Given the description of an element on the screen output the (x, y) to click on. 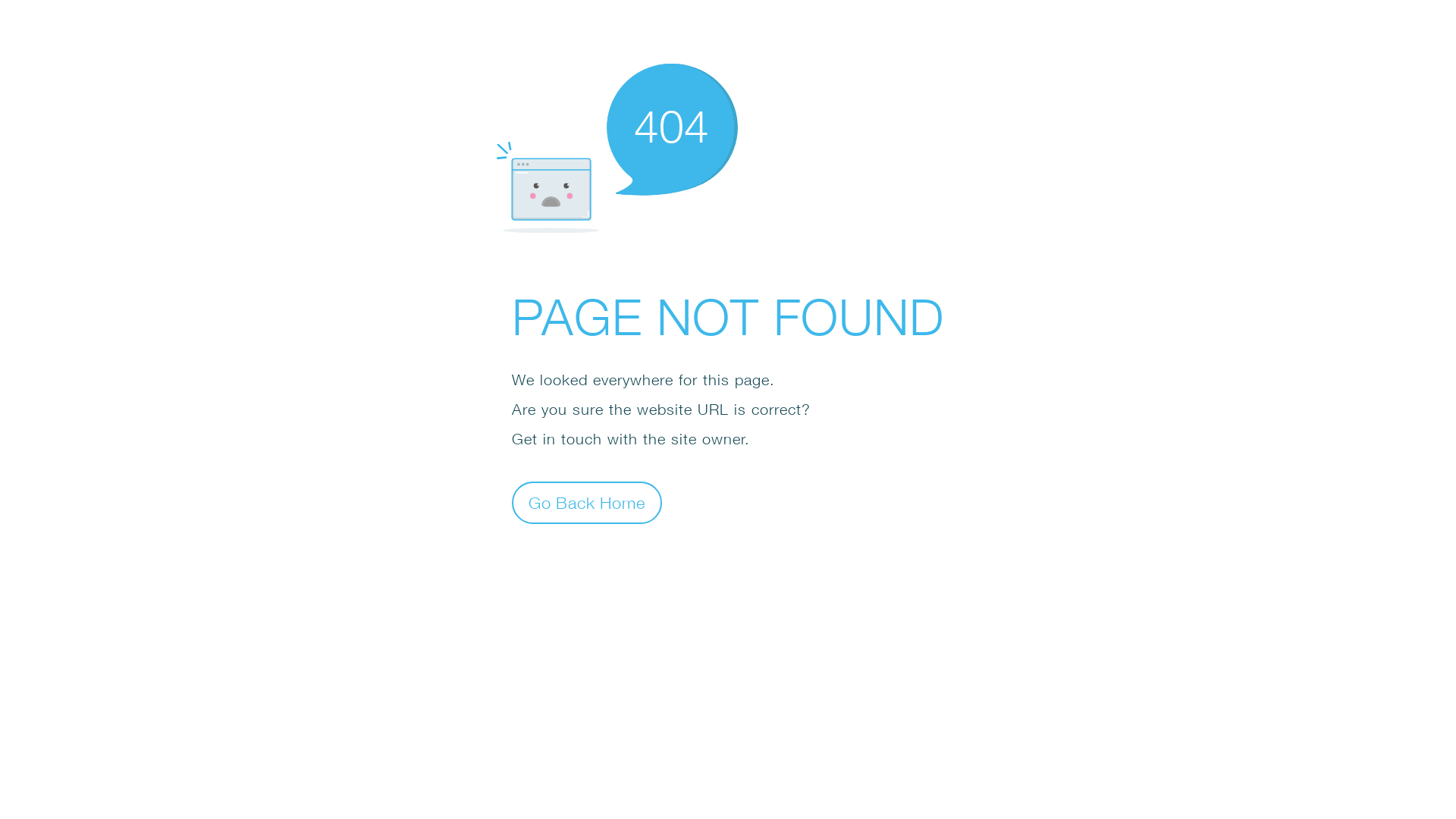
Go Back Home Element type: text (586, 502)
